Given the description of an element on the screen output the (x, y) to click on. 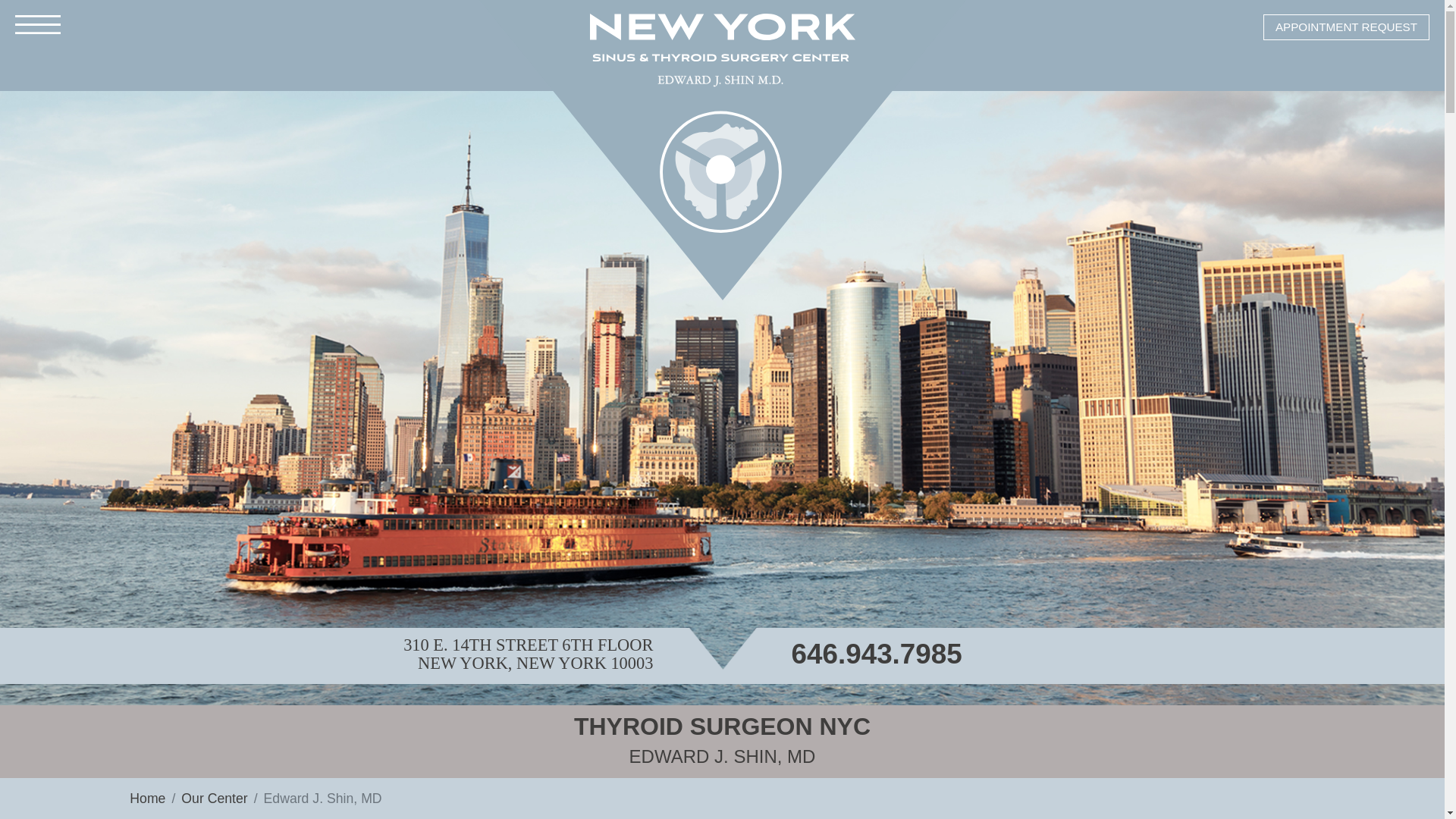
Open Menu (37, 24)
